Given the description of an element on the screen output the (x, y) to click on. 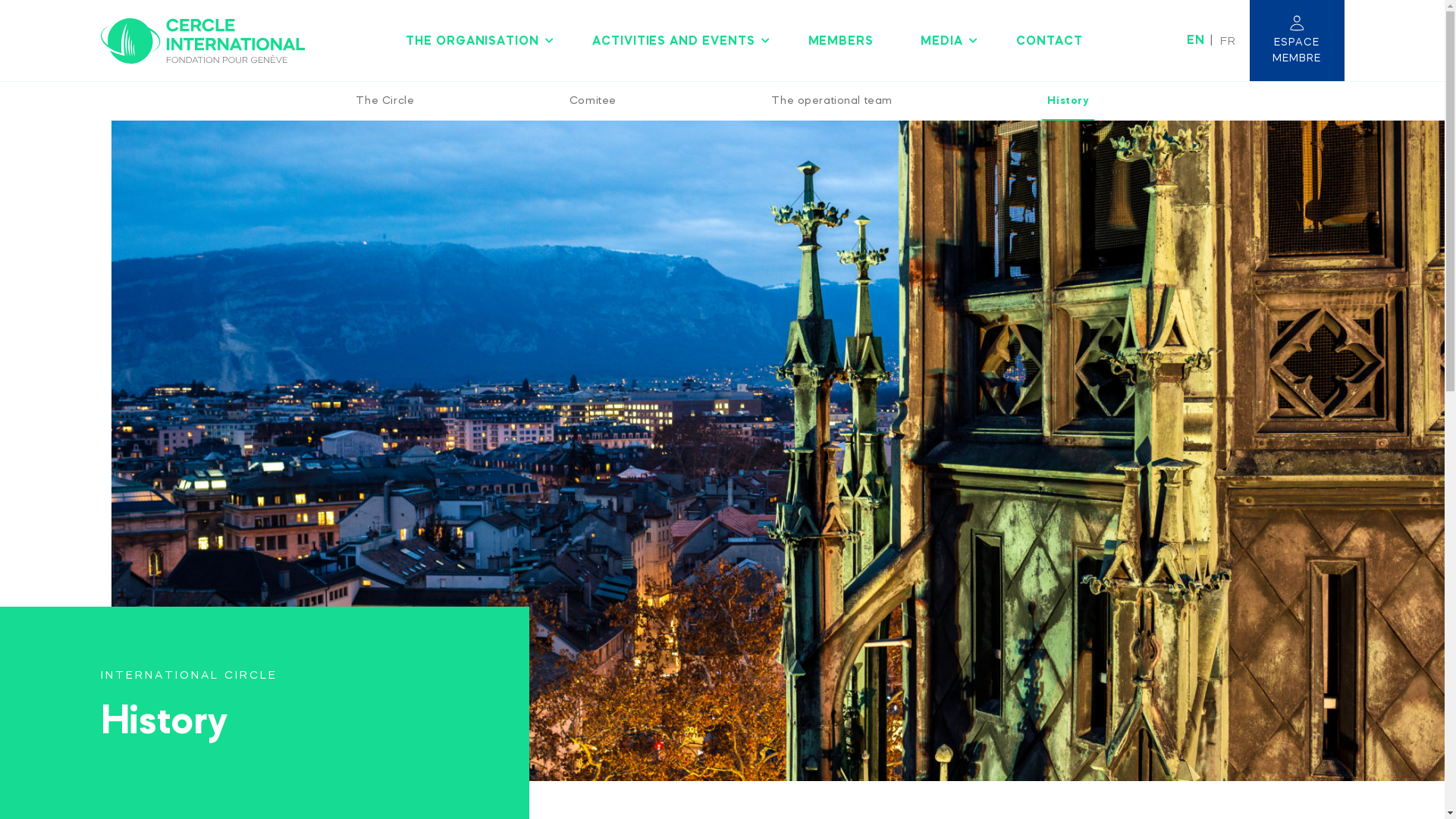
THE ORGANISATION Element type: text (475, 39)
ACTIVITIES AND EVENTS Element type: text (676, 39)
Cercle International Element type: hover (202, 40)
CONTACT Element type: text (1049, 39)
FR Element type: text (1227, 40)
The operational team Element type: text (831, 100)
Comitee Element type: text (592, 100)
EN Element type: text (1195, 39)
MEDIA Element type: text (944, 39)
The Circle Element type: text (384, 100)
ESPACE MEMBRE Element type: text (1296, 40)
MEMBERS Element type: text (841, 39)
History Element type: text (1067, 100)
